Given the description of an element on the screen output the (x, y) to click on. 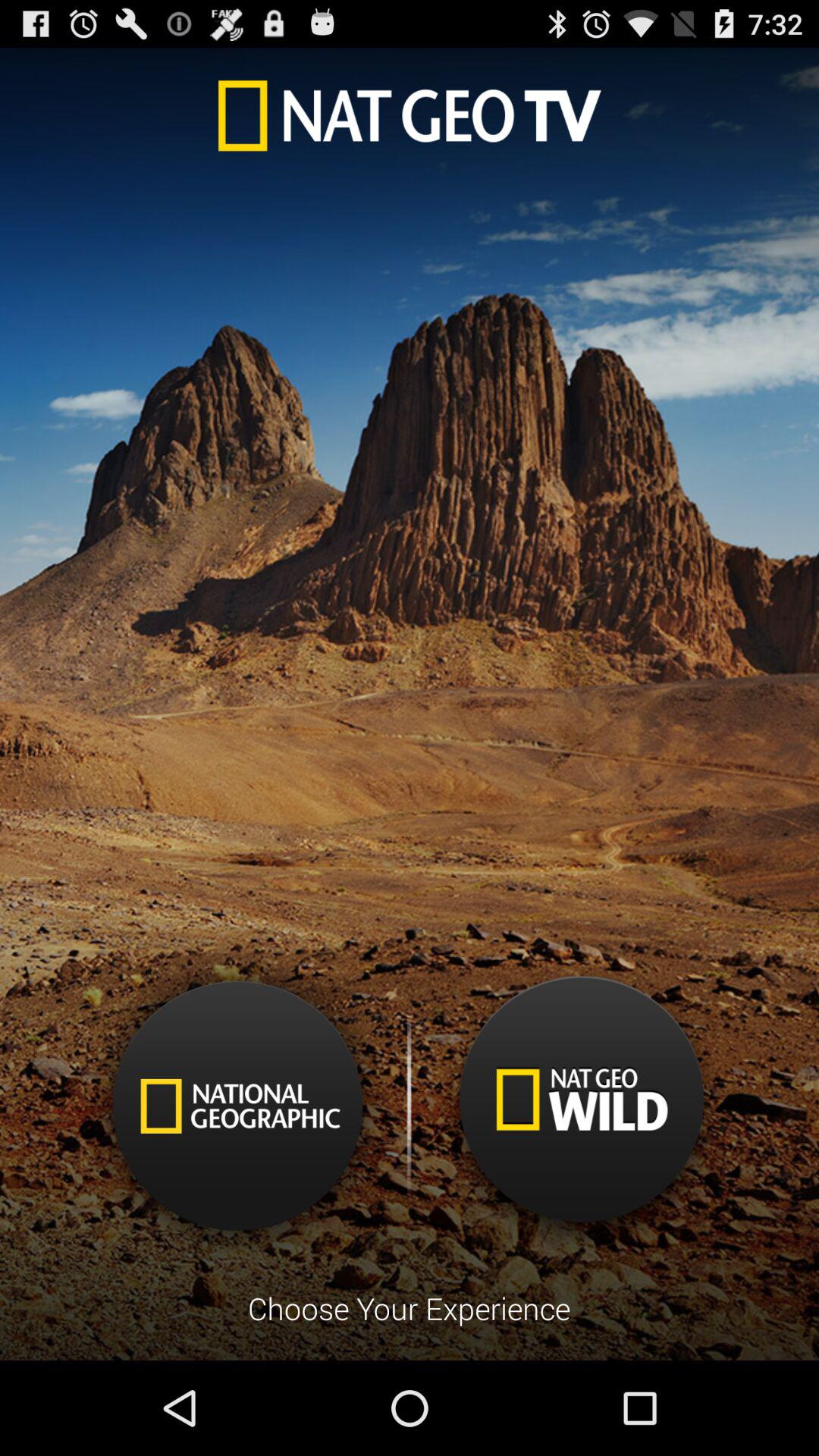
this button is used to choose a national geographic channel (237, 1105)
